Given the description of an element on the screen output the (x, y) to click on. 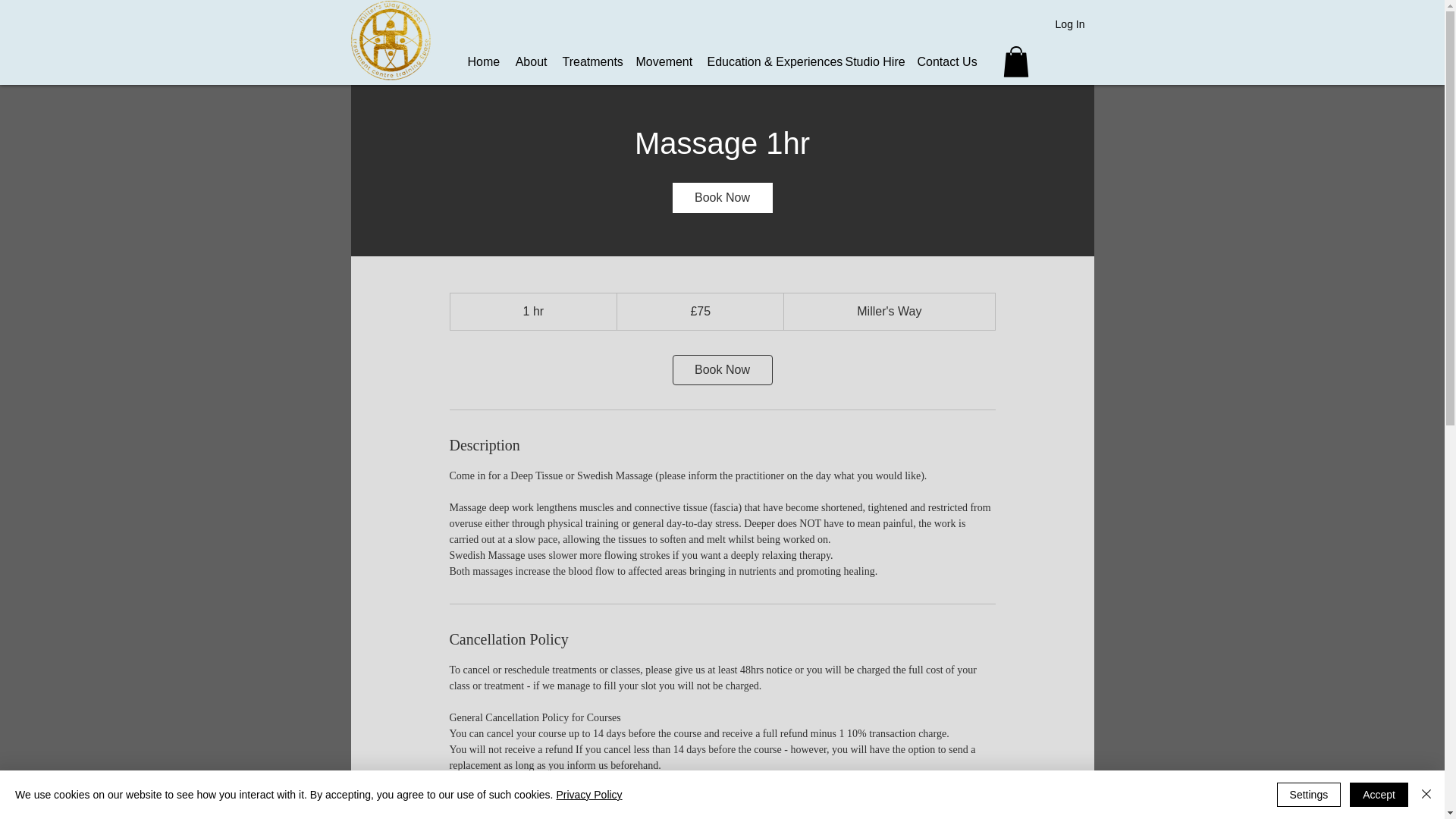
Studio Hire (872, 61)
Privacy Policy (588, 794)
Log In (1070, 24)
Movement (662, 61)
Accept (1378, 794)
Book Now (721, 369)
Settings (1308, 794)
Book Now (721, 197)
Home (482, 61)
About (530, 61)
Contact Us (947, 61)
Treatments (591, 61)
